Given the description of an element on the screen output the (x, y) to click on. 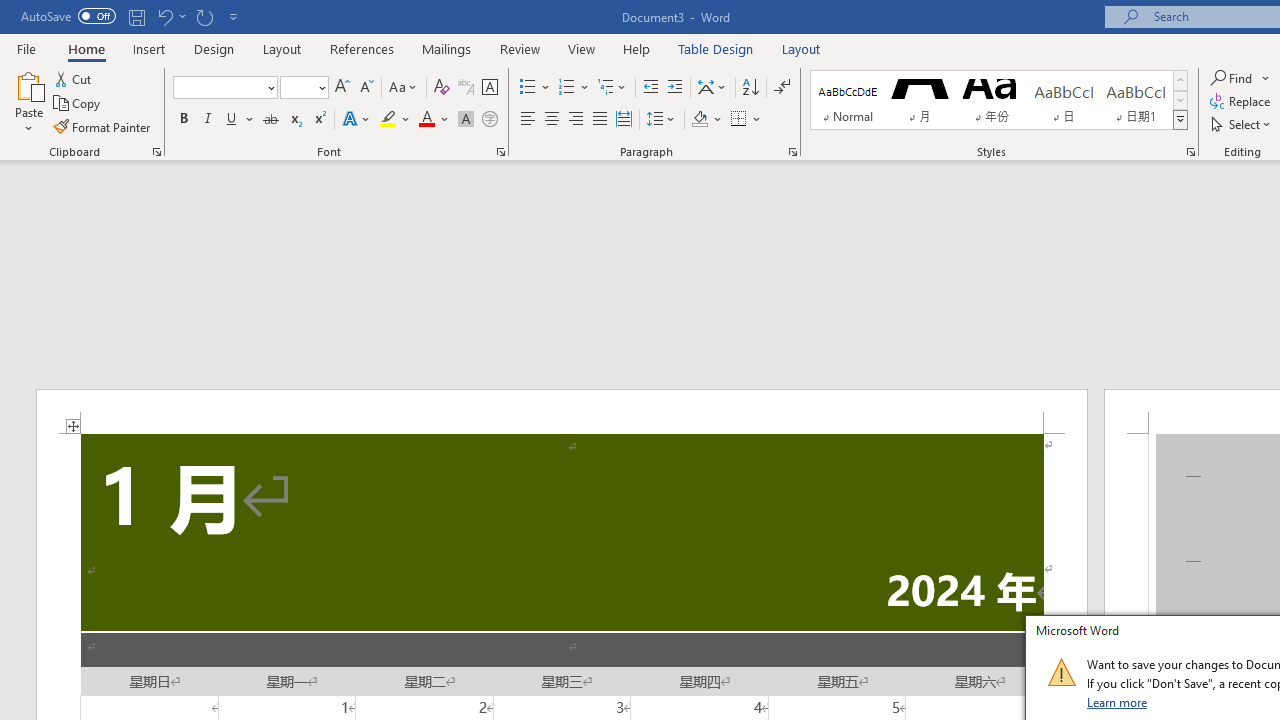
Customize Quick Access Toolbar (234, 15)
Font Size (304, 87)
Decrease Indent (650, 87)
Paste (28, 102)
References (362, 48)
Open (320, 87)
Center (552, 119)
Shading RGB(0, 0, 0) (699, 119)
Copy (78, 103)
Text Effects and Typography (357, 119)
Justify (599, 119)
